Given the description of an element on the screen output the (x, y) to click on. 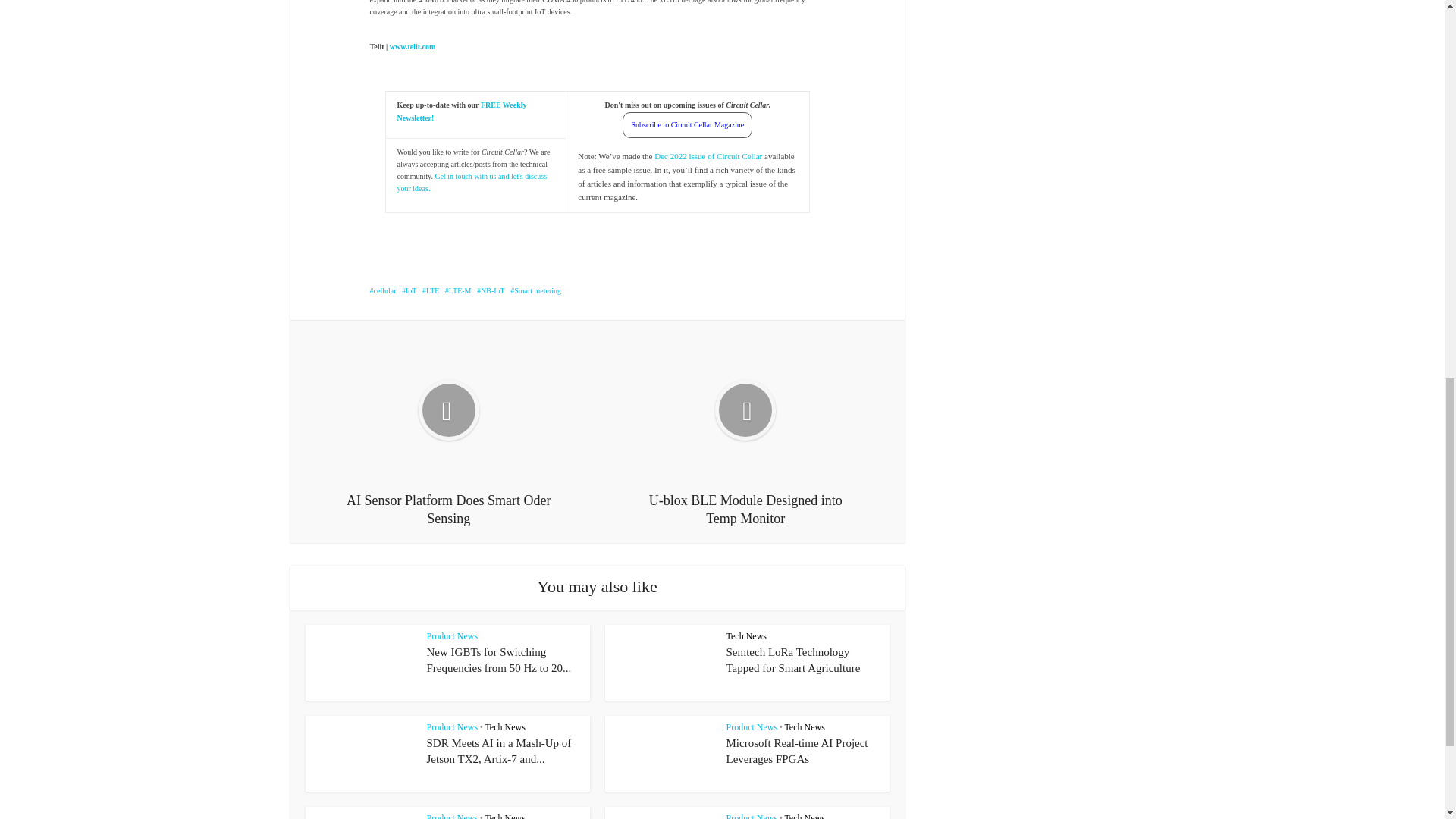
Semtech LoRa Technology Tapped for Smart Agriculture (793, 659)
New IGBTs for Switching Frequencies from 50 Hz to 20 kHz (498, 659)
Microsoft Real-time AI Project Leverages FPGAs (796, 750)
